Given the description of an element on the screen output the (x, y) to click on. 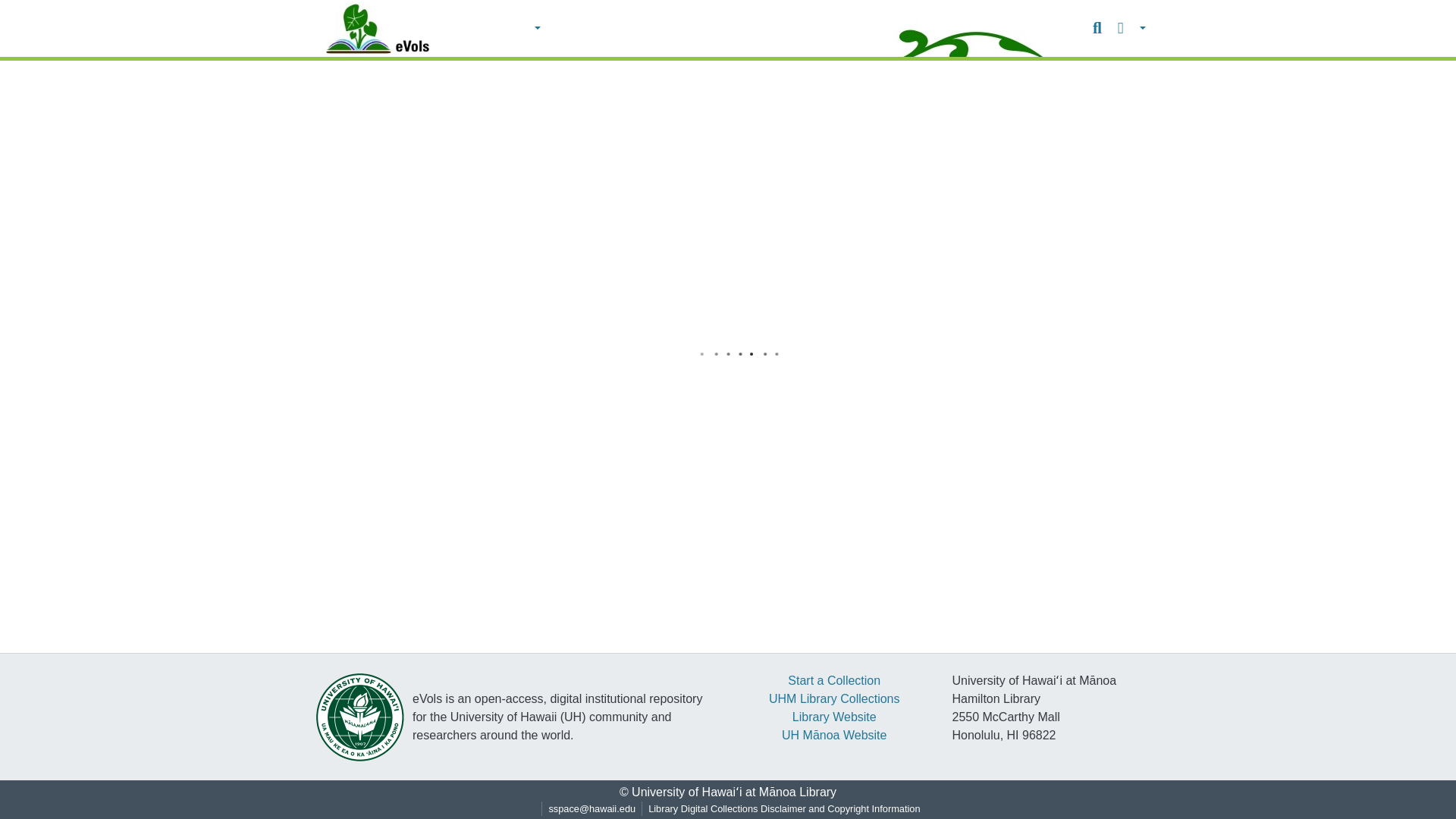
UHM Library Collections (833, 698)
Start a Collection (833, 680)
Library Website (834, 716)
